Given the description of an element on the screen output the (x, y) to click on. 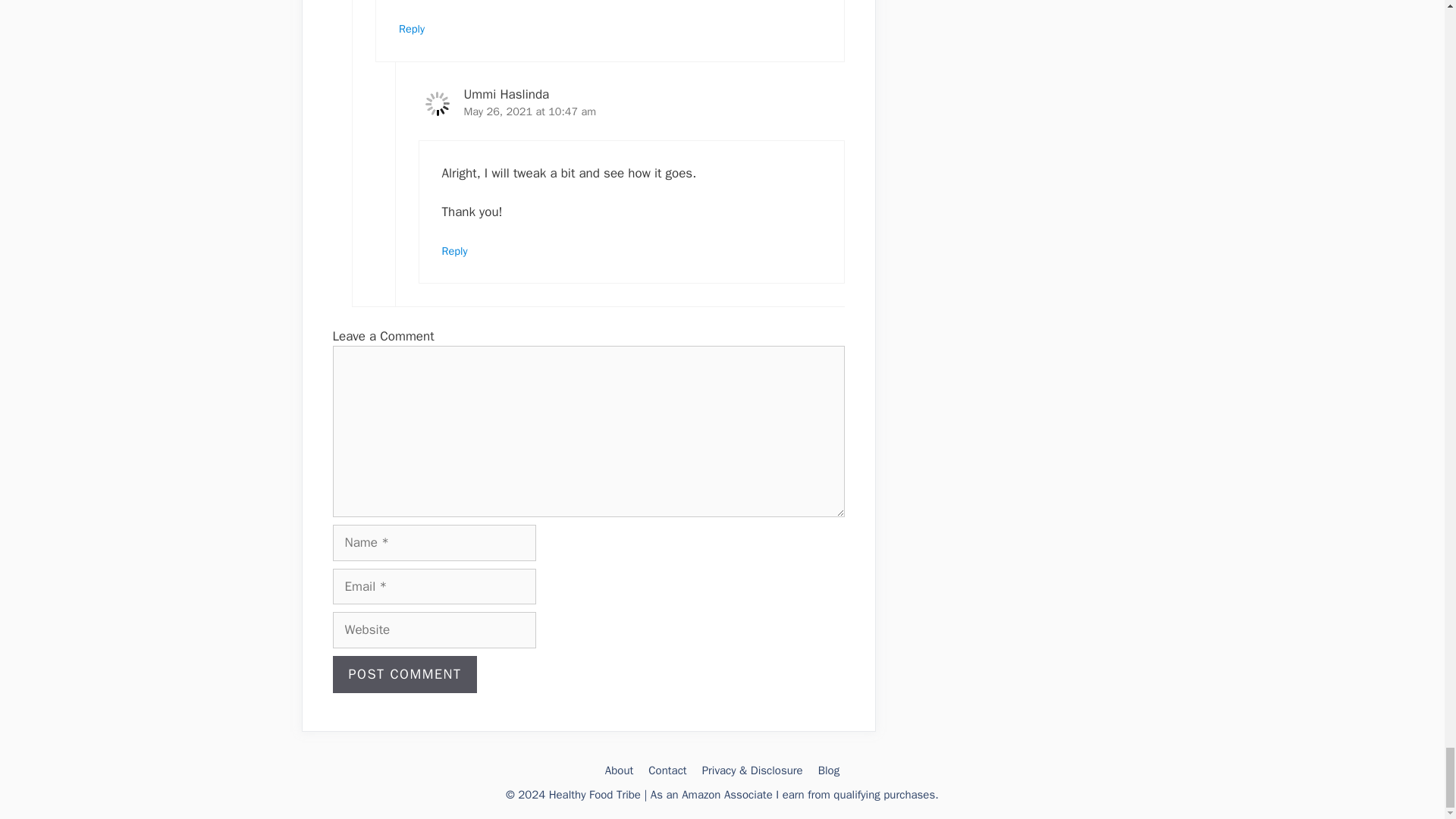
Post Comment (404, 674)
